Given the description of an element on the screen output the (x, y) to click on. 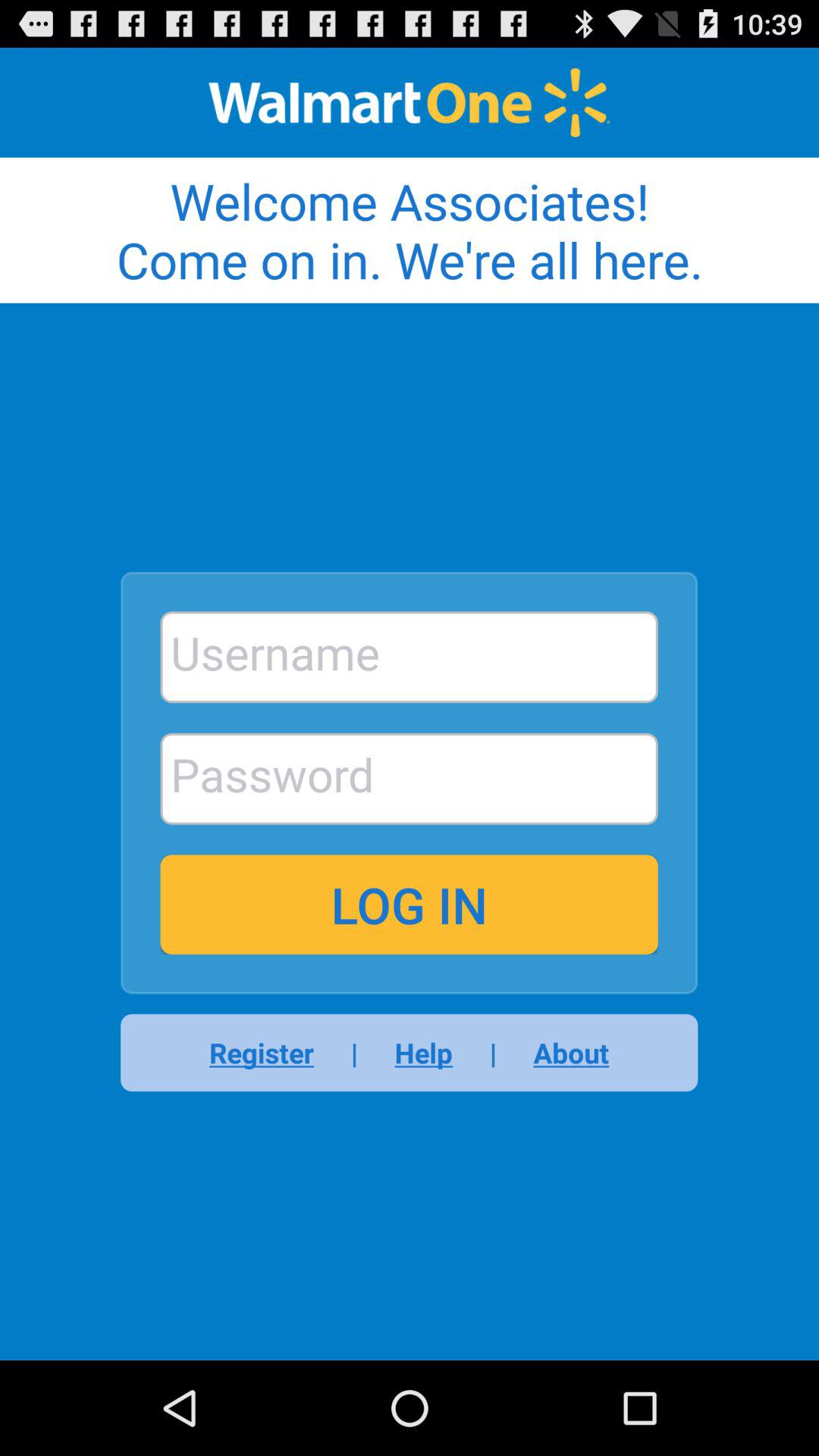
choose app next to the | item (423, 1052)
